Given the description of an element on the screen output the (x, y) to click on. 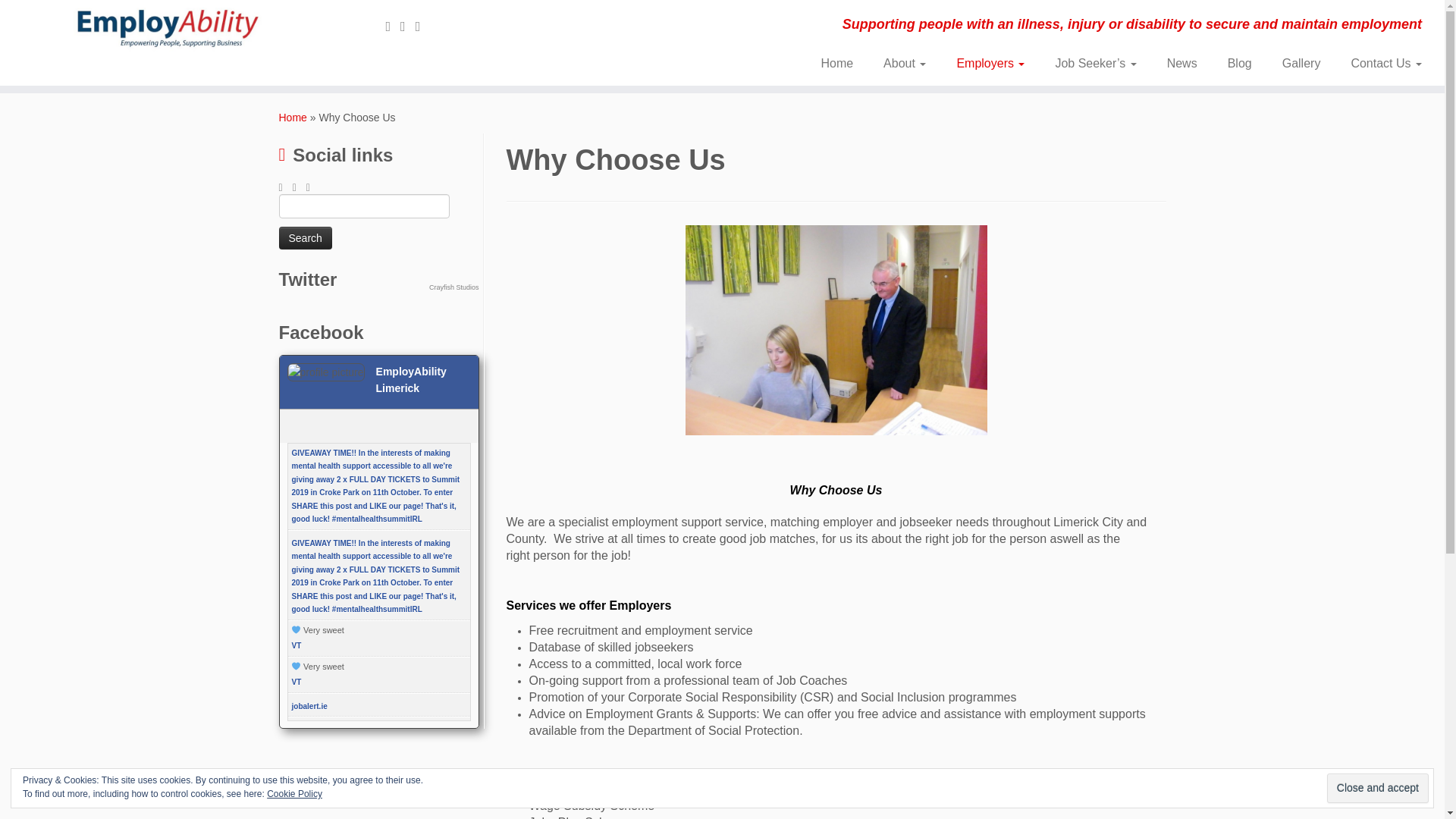
Gallery (1301, 62)
Close and accept (1377, 788)
News (1181, 62)
Blog (1239, 62)
VT (296, 682)
Follow me on Twitter (392, 26)
EmployAbility Limerick (410, 379)
EmployAbilityLimerick (293, 117)
Contact Us (1378, 62)
Follow us on Linkedin (422, 26)
Home (836, 62)
VT (296, 645)
Crayfish Studios (454, 287)
Search (305, 237)
Home (293, 117)
